Given the description of an element on the screen output the (x, y) to click on. 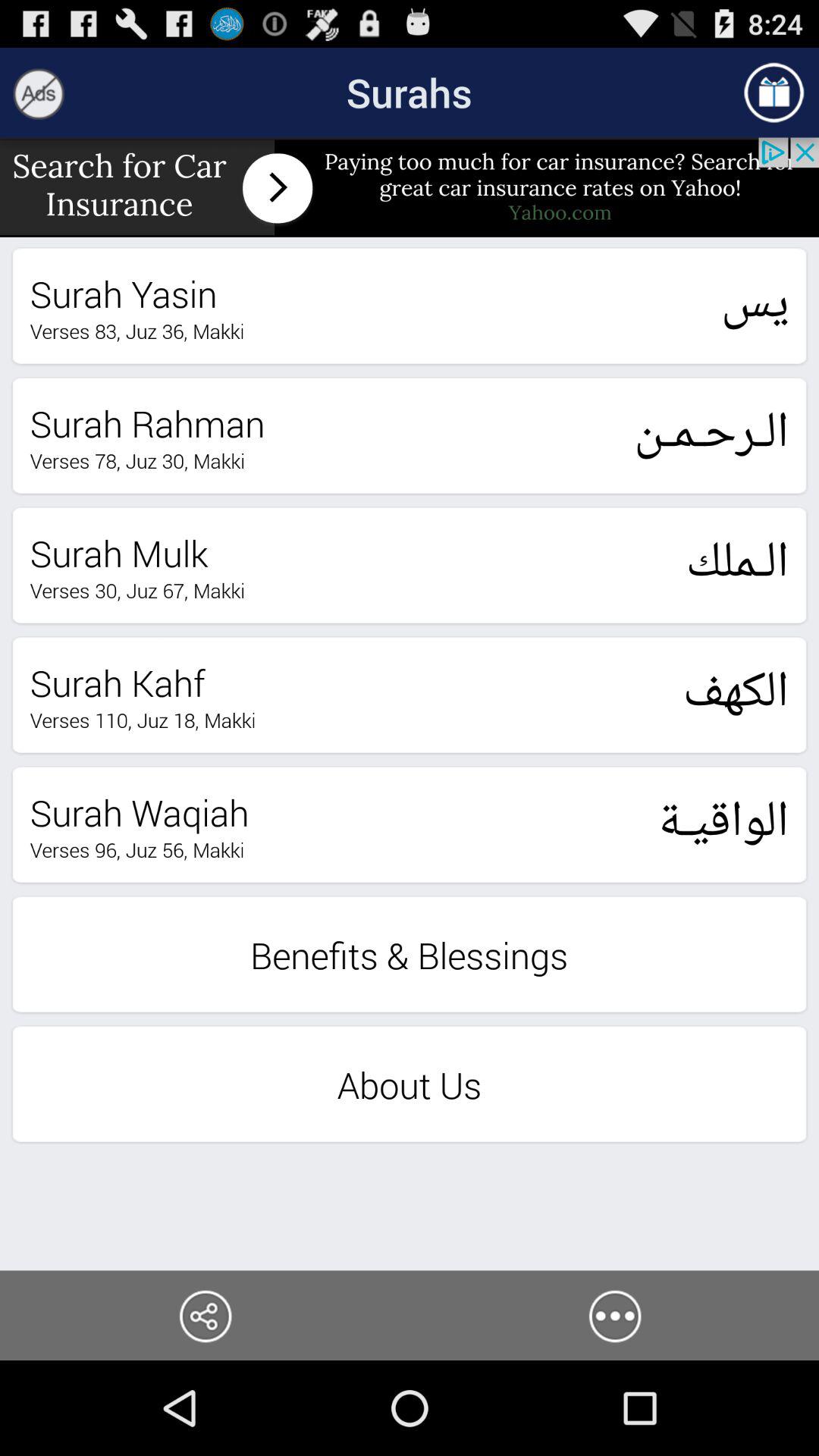
insurance (409, 187)
